Given the description of an element on the screen output the (x, y) to click on. 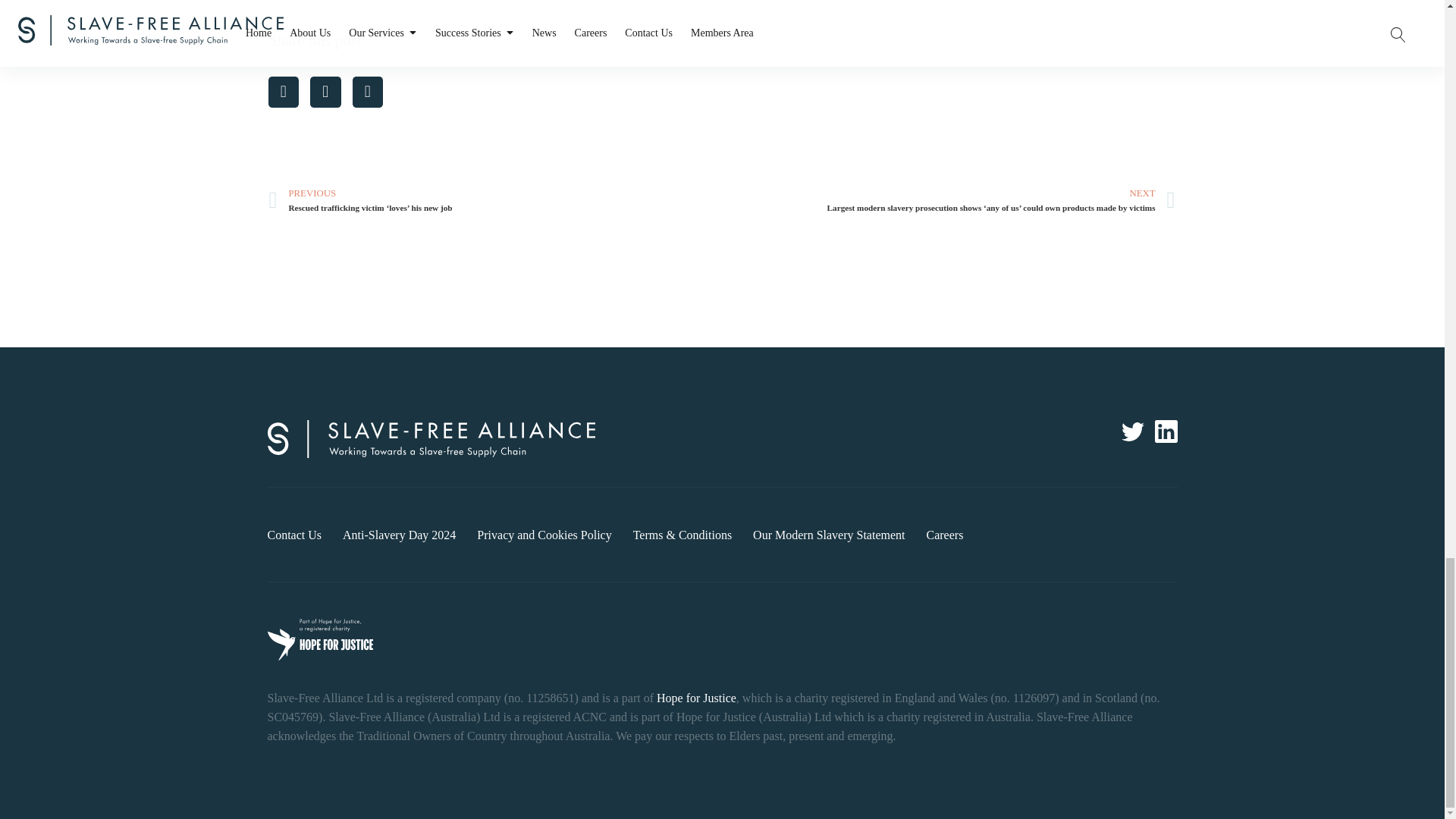
Contact Us (293, 534)
